Given the description of an element on the screen output the (x, y) to click on. 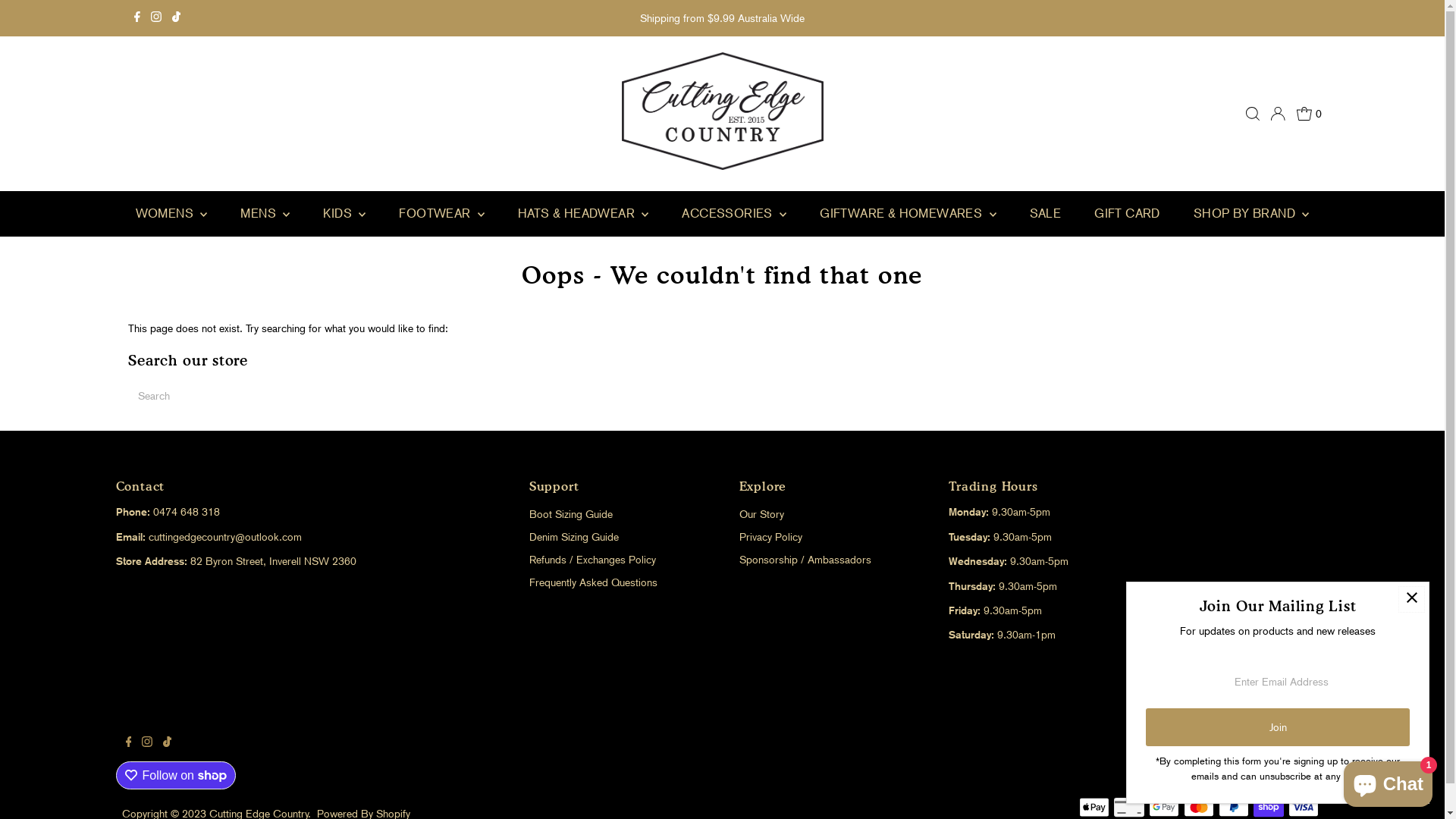
Join Element type: text (1277, 727)
Frequently Asked Questions Element type: text (593, 582)
Our Story Element type: text (760, 514)
0 Element type: text (1308, 113)
Sponsorship / Ambassadors Element type: text (804, 559)
Shopify online store chat Element type: hover (1388, 780)
Refunds / Exchanges Policy Element type: text (592, 559)
Boot Sizing Guide Element type: text (570, 514)
Denim Sizing Guide Element type: text (573, 536)
Privacy Policy Element type: text (769, 536)
SALE Element type: text (1045, 213)
GIFT CARD Element type: text (1127, 213)
